Given the description of an element on the screen output the (x, y) to click on. 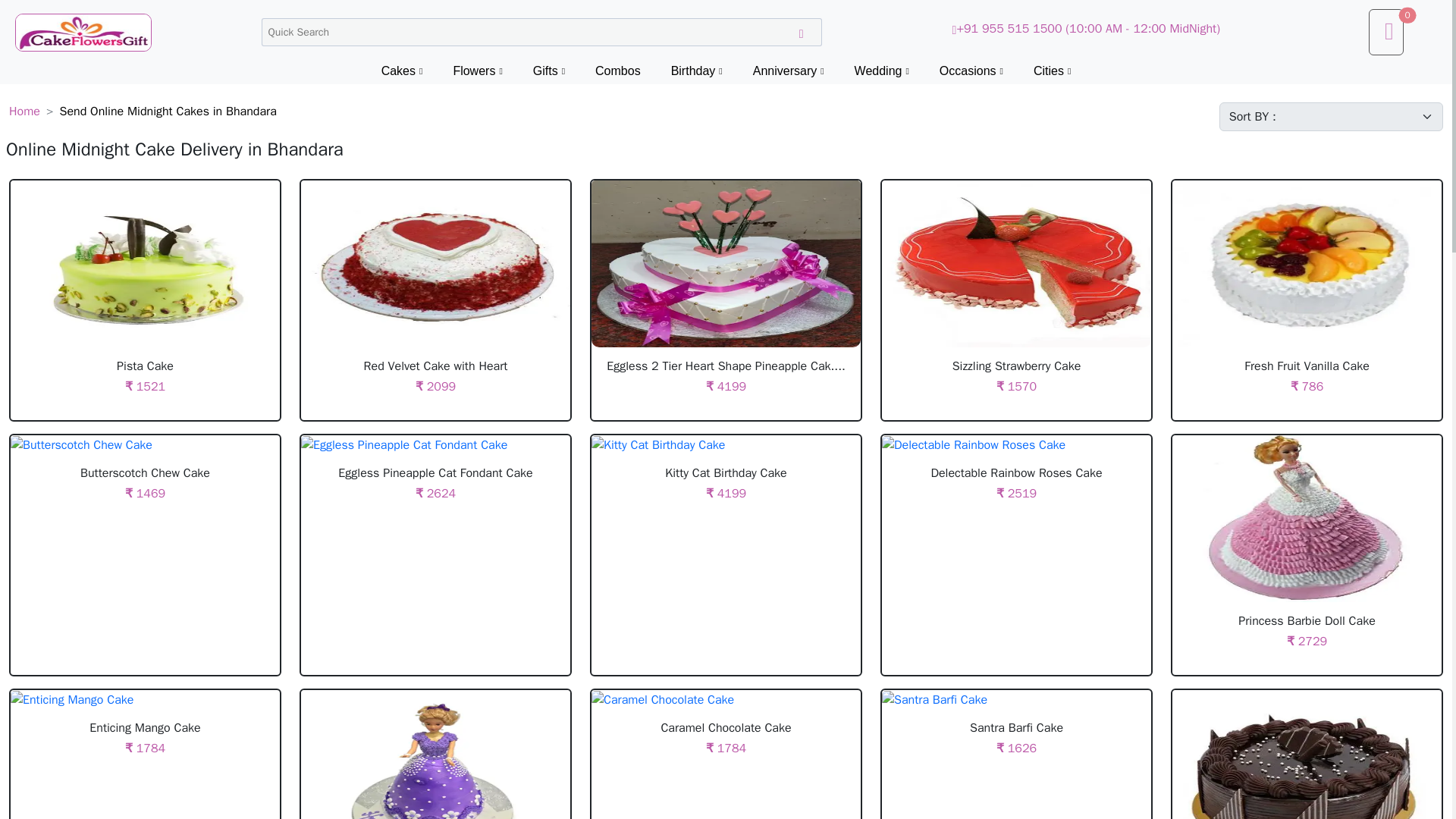
Combos (617, 71)
Cakes (402, 71)
0 (1385, 28)
Search (801, 31)
0 (1385, 31)
Quick Search (540, 31)
